Given the description of an element on the screen output the (x, y) to click on. 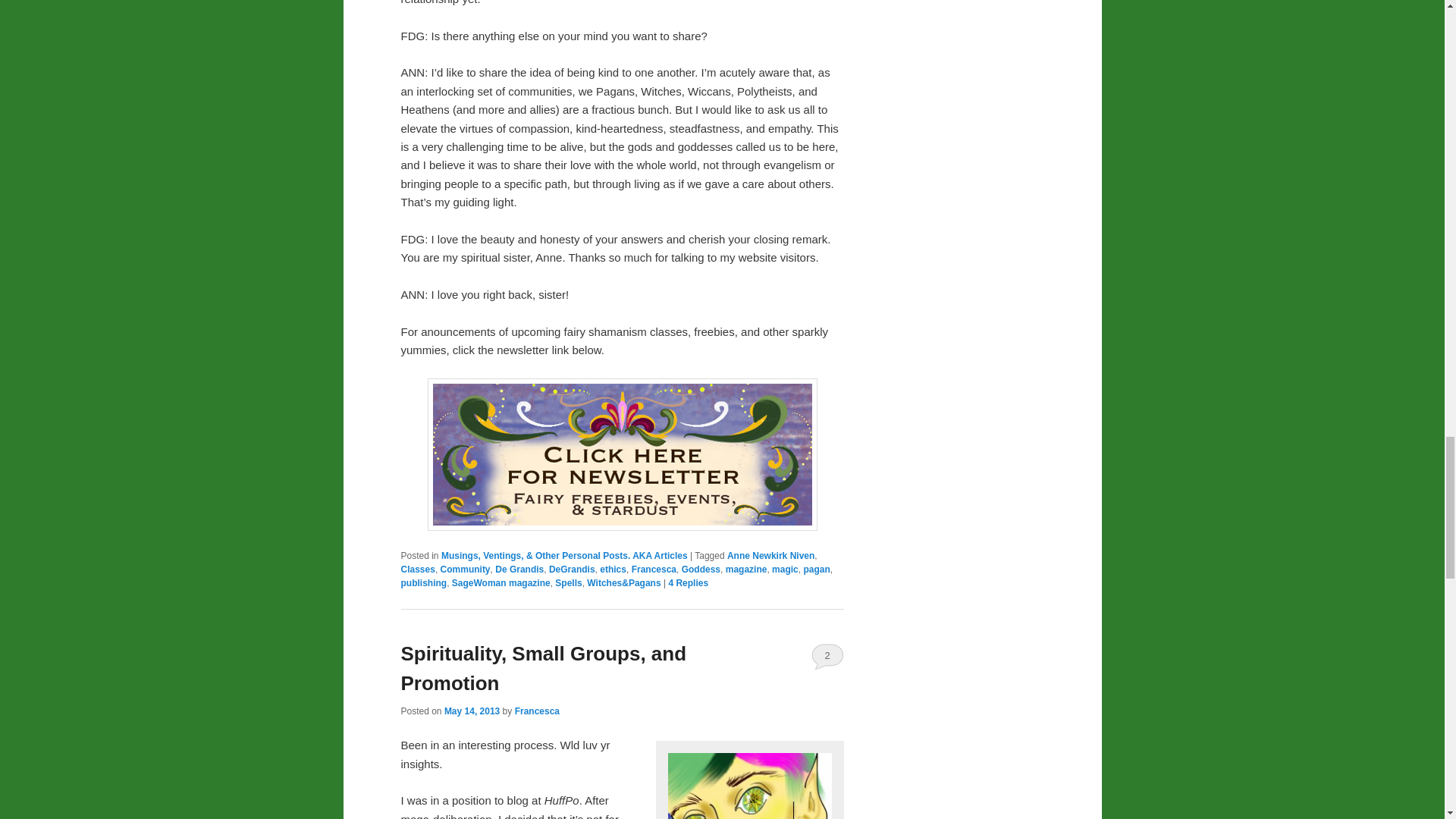
DeGrandis (571, 569)
View all posts by Francesca (537, 710)
Spells (567, 583)
Spirituality, Small Groups, and Promotion (542, 668)
Community (465, 569)
3:32 pm (471, 710)
De Grandis (519, 569)
Classes (416, 569)
ethics (612, 569)
SageWoman magazine (500, 583)
publishing (423, 583)
May 14, 2013 (471, 710)
magazine (746, 569)
Anne Newkirk Niven (769, 555)
Francesca (654, 569)
